Given the description of an element on the screen output the (x, y) to click on. 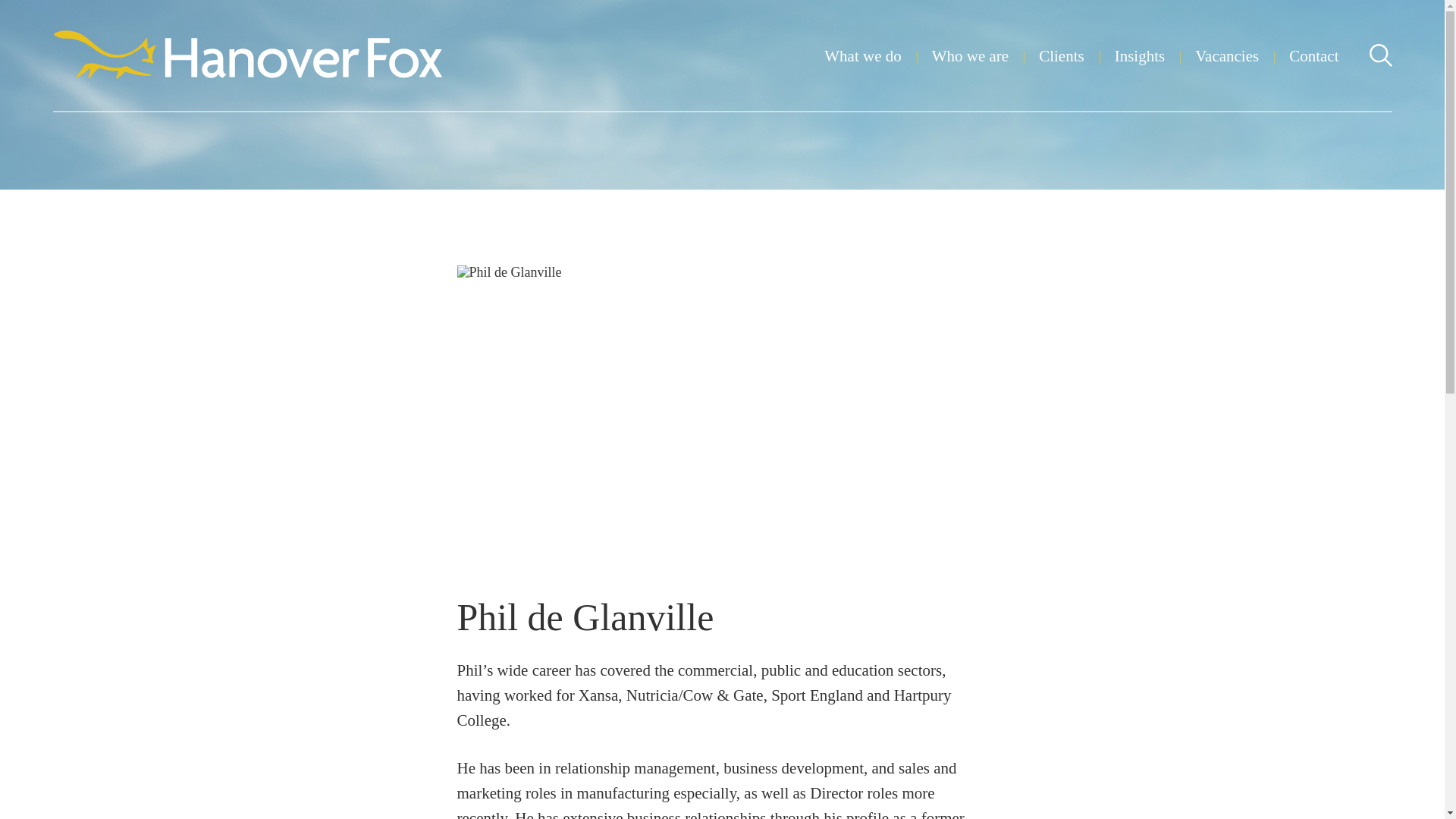
What we do (862, 56)
Contact (1313, 56)
Vacancies (1227, 56)
Insights (1140, 56)
Who we are (970, 56)
Clients (1061, 56)
